Given the description of an element on the screen output the (x, y) to click on. 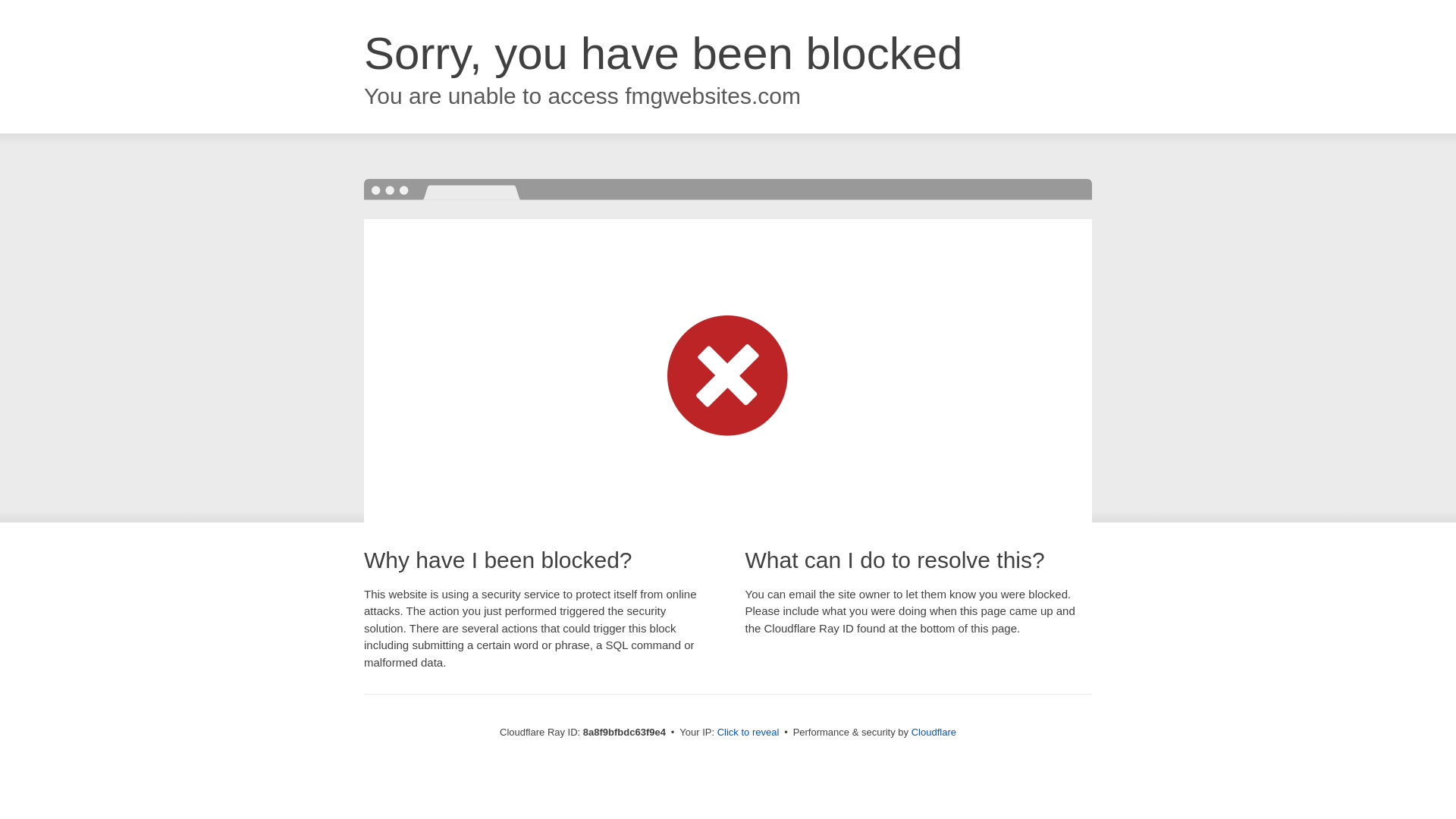
Click to reveal (747, 732)
Cloudflare (933, 731)
